Given the description of an element on the screen output the (x, y) to click on. 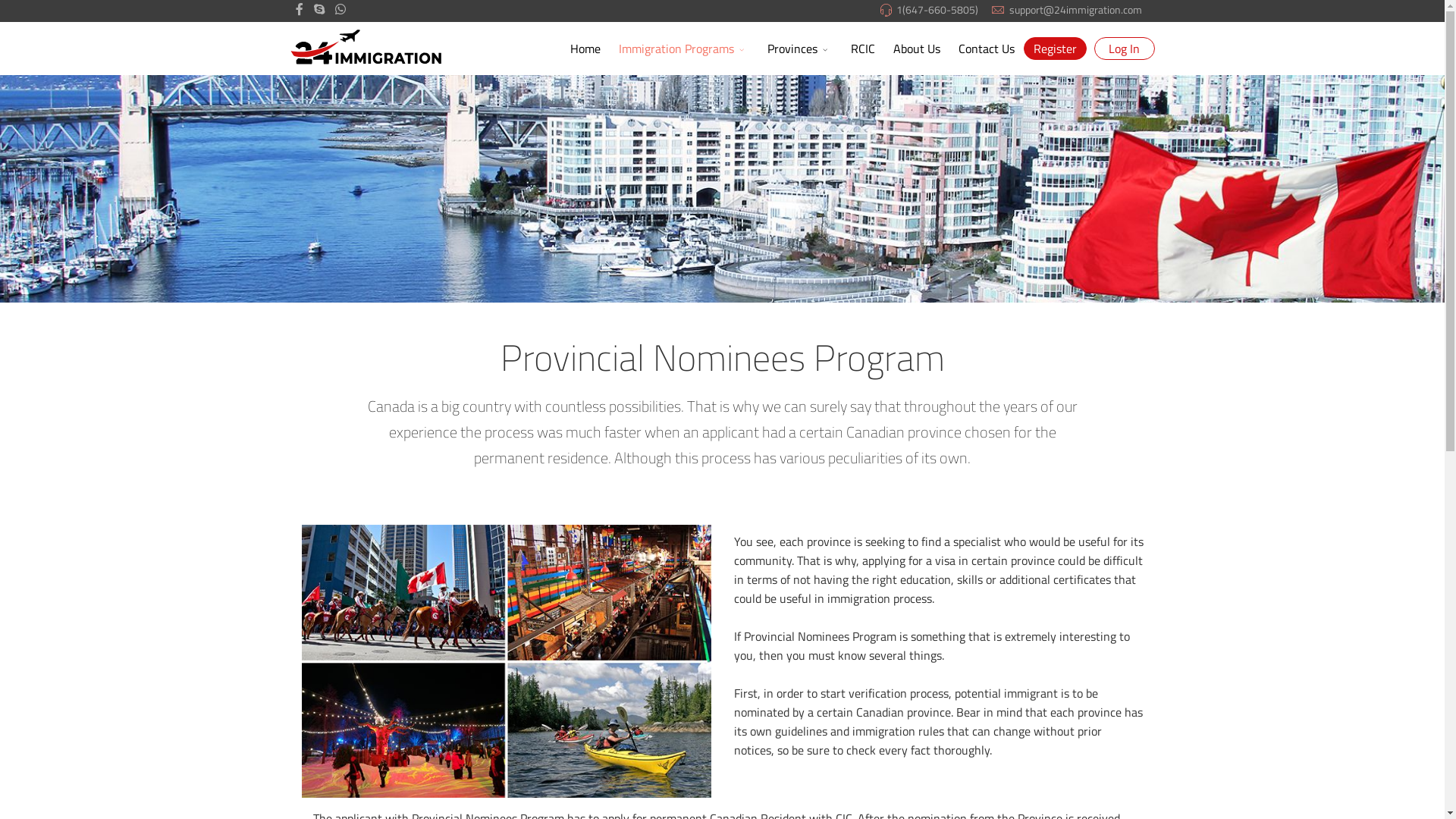
Contact Us Element type: text (986, 48)
Register Element type: text (1054, 48)
Immigration Programs Element type: text (683, 48)
Provinces Element type: text (799, 48)
Log In Element type: text (1123, 48)
About Us Element type: text (916, 48)
RCIC Element type: text (862, 48)
support@24immigration.com Element type: text (1074, 9)
1(647-660-5805) Element type: text (937, 9)
Home Element type: text (585, 48)
